Given the description of an element on the screen output the (x, y) to click on. 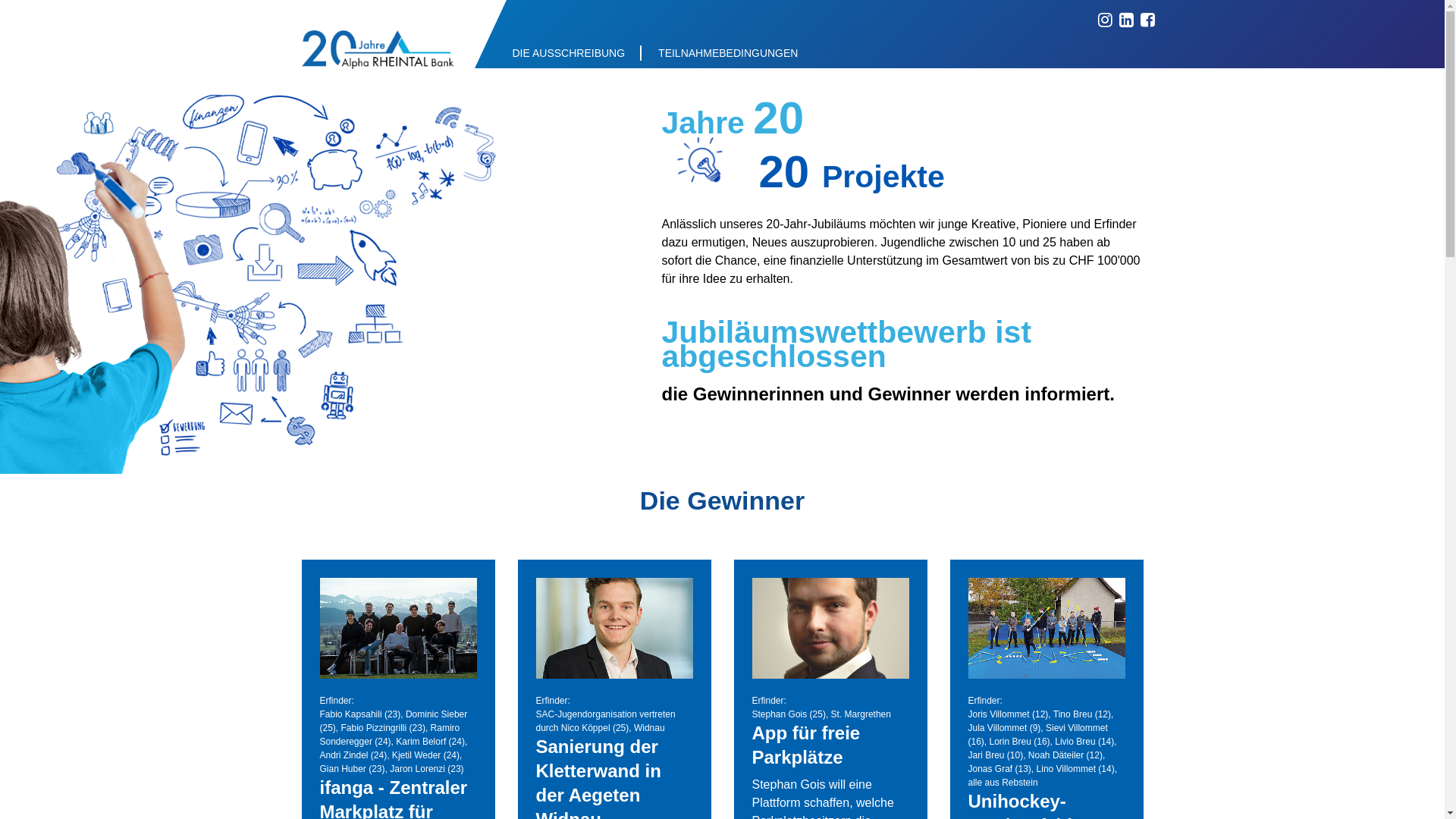
DIE AUSSCHREIBUNG Element type: text (568, 52)
TEILNAHMEBEDINGUNGEN Element type: text (727, 52)
